Given the description of an element on the screen output the (x, y) to click on. 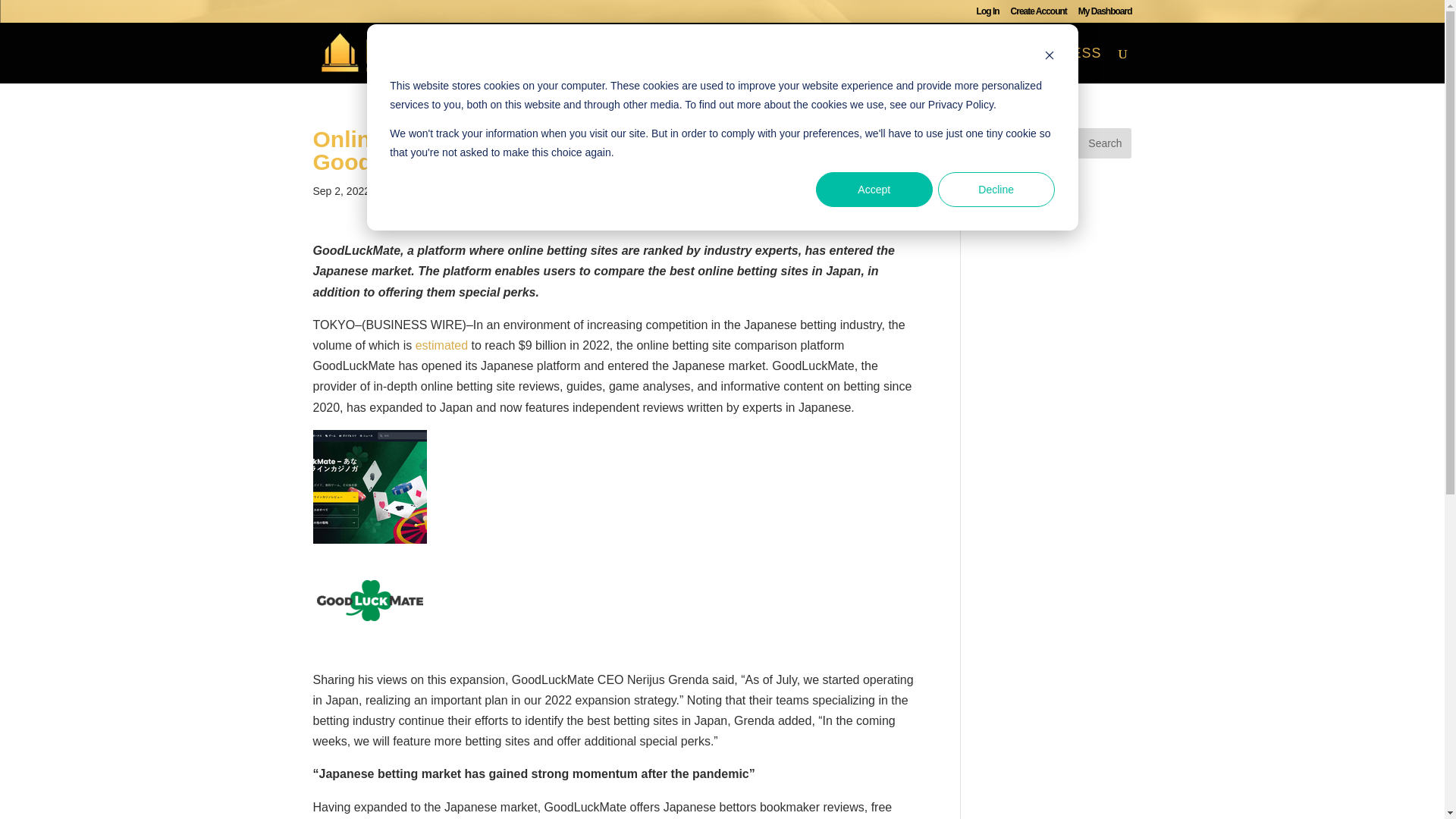
PLAY (1003, 65)
ABOUT (739, 65)
Log In (987, 14)
Search (1104, 142)
Create Account (1038, 14)
PRESS (1075, 65)
My Dashboard (1105, 14)
Search (1104, 142)
BusinessWire (411, 191)
AWARDS (826, 65)
